Given the description of an element on the screen output the (x, y) to click on. 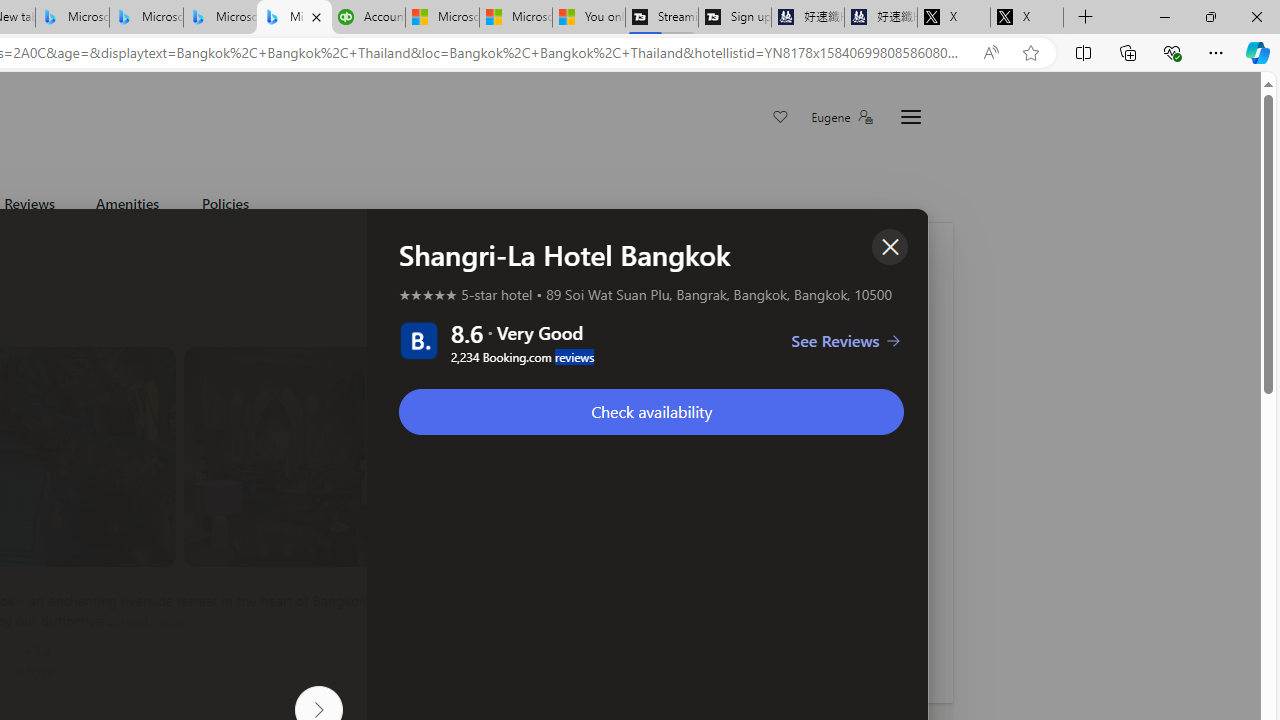
Streaming Coverage | T3 (661, 17)
